Given the description of an element on the screen output the (x, y) to click on. 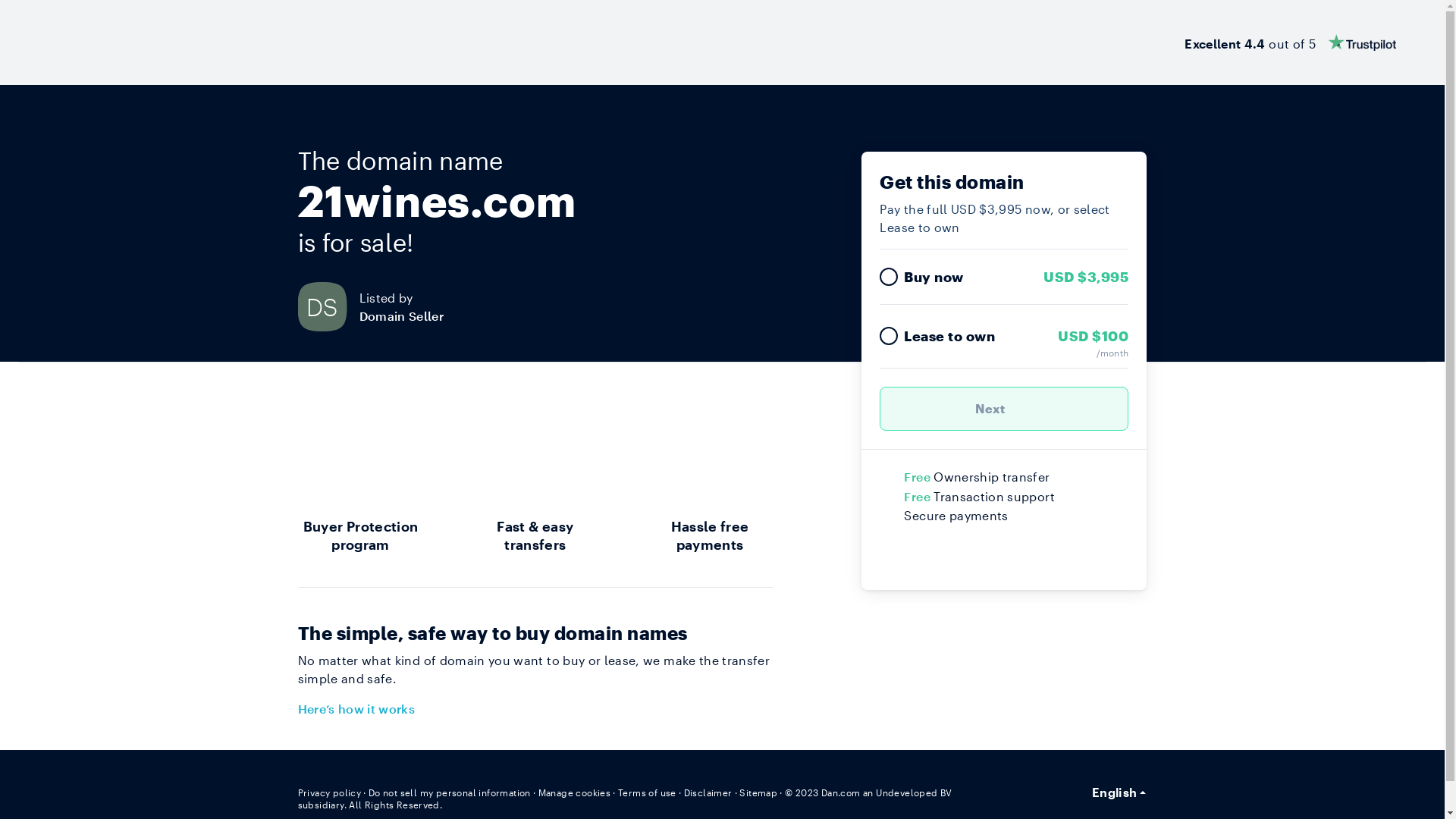
Excellent 4.4 out of 5 Element type: text (1290, 42)
Privacy policy Element type: text (328, 792)
Disclaimer Element type: text (708, 792)
Next
) Element type: text (1003, 408)
Sitemap Element type: text (758, 792)
English Element type: text (1119, 792)
Do not sell my personal information Element type: text (449, 792)
Terms of use Element type: text (647, 792)
Manage cookies Element type: text (574, 792)
